Given the description of an element on the screen output the (x, y) to click on. 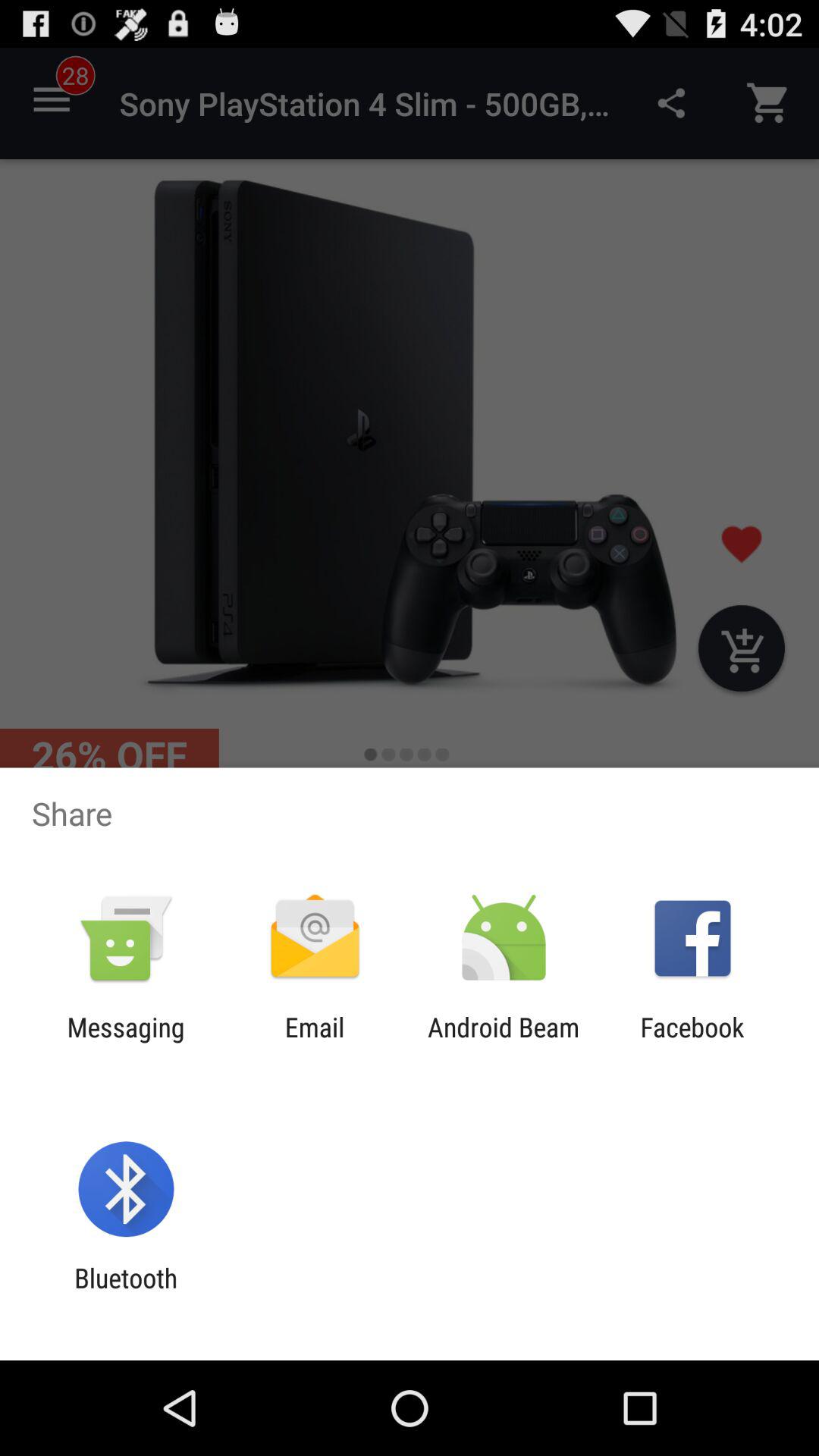
launch the item to the right of the messaging (314, 1042)
